Given the description of an element on the screen output the (x, y) to click on. 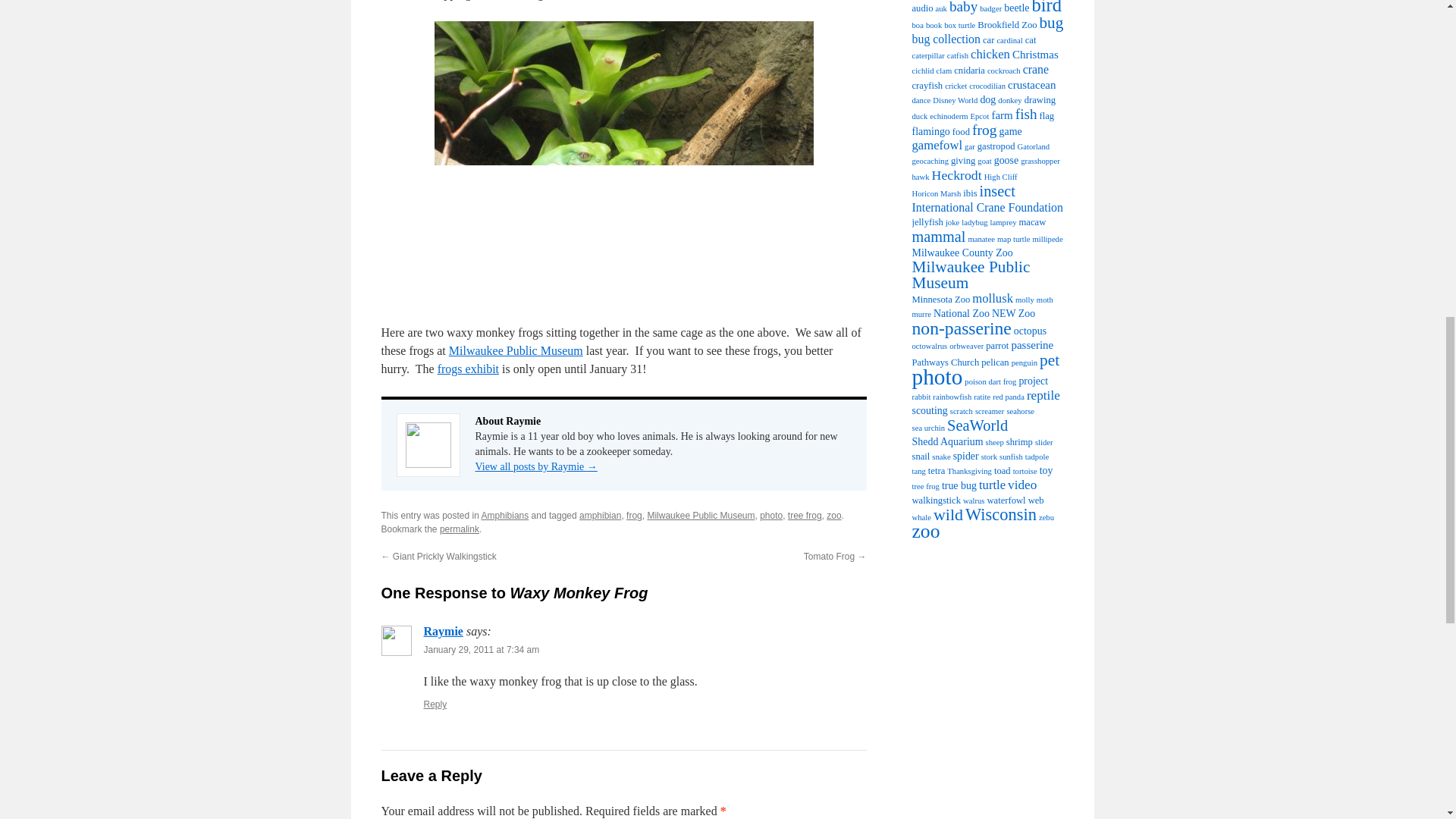
Permalink to Waxy Monkey Frog (459, 529)
tree frog (804, 515)
permalink (459, 529)
photo (771, 515)
Waxy Monkey Frogs (622, 163)
Raymie (443, 631)
Milwaukee Public Museum (515, 350)
Milwaukee Public Museum (700, 515)
amphibian (600, 515)
Amphibians (505, 515)
